Given the description of an element on the screen output the (x, y) to click on. 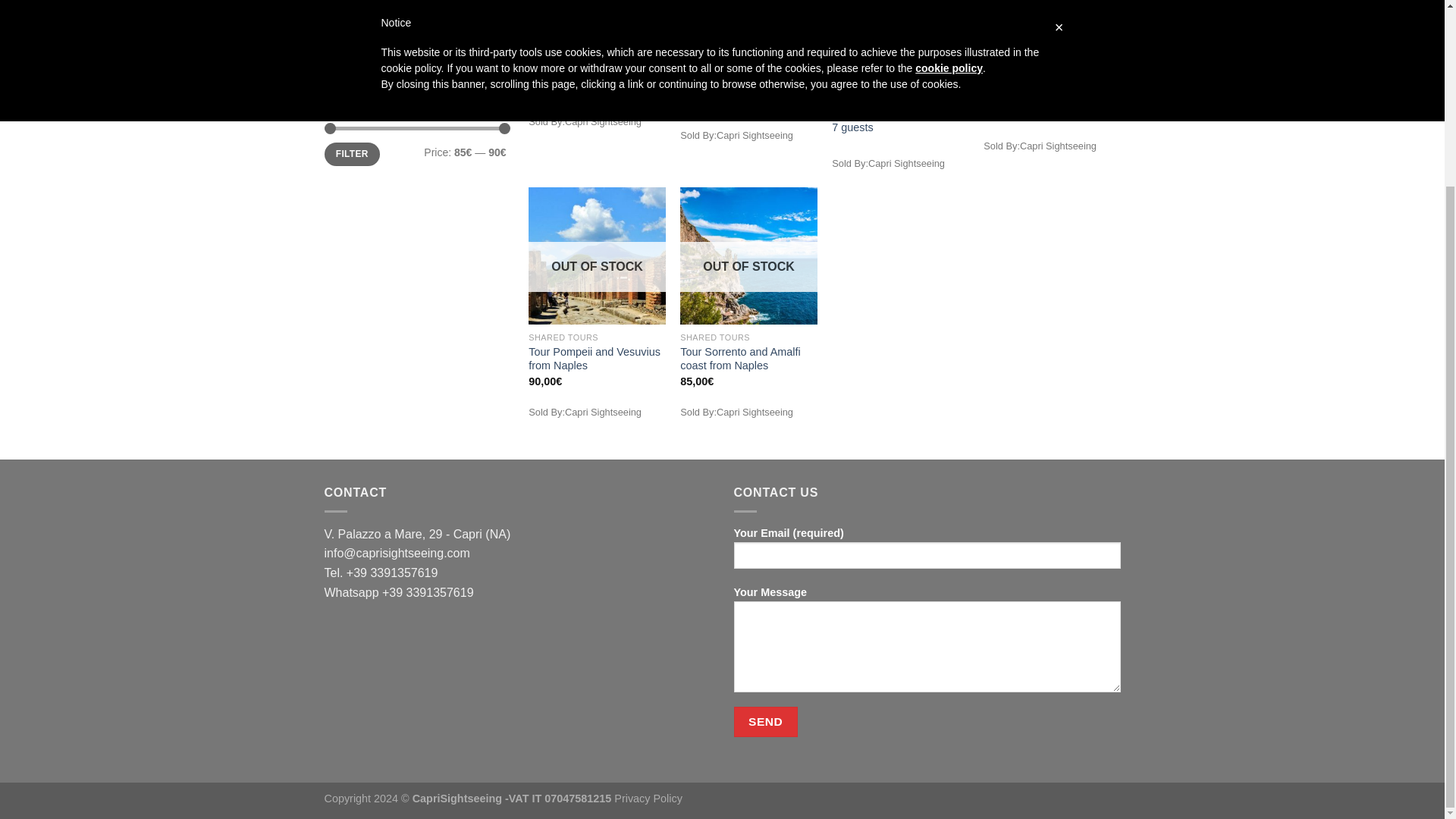
Uncategorized (415, 93)
FILTER (352, 154)
Shared Tours (415, 10)
Send (765, 721)
Capri Tour from Naples with guide and lunch (747, 91)
Shuttle Service (415, 35)
Capri on your own (572, 85)
Tours (415, 64)
